Given the description of an element on the screen output the (x, y) to click on. 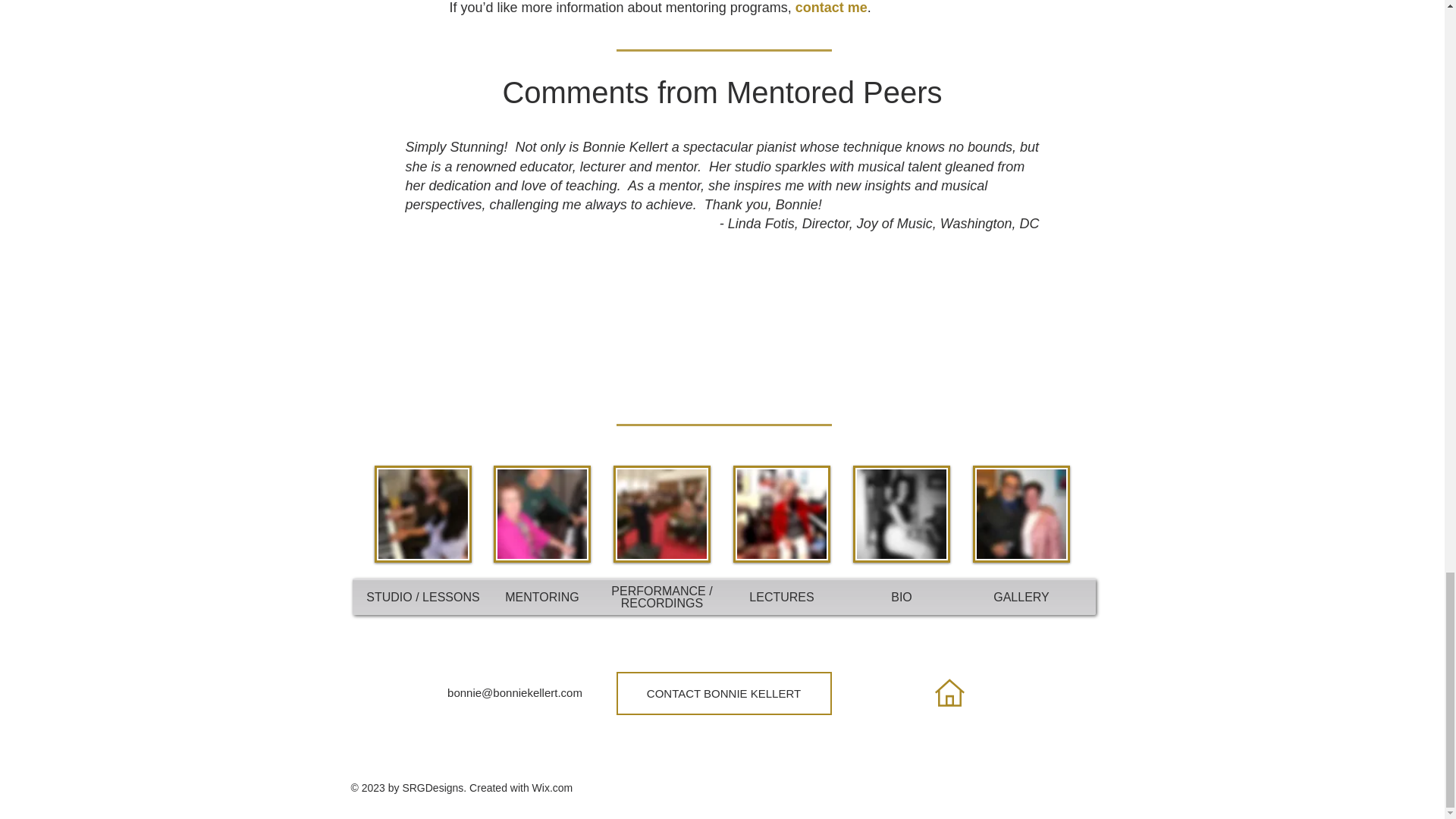
MENTORING (541, 596)
Wix.com (552, 787)
LECTURES (781, 596)
GALLERY (1020, 596)
CONTACT BONNIE KELLERT (723, 692)
contact me (830, 7)
BIO (901, 596)
